Given the description of an element on the screen output the (x, y) to click on. 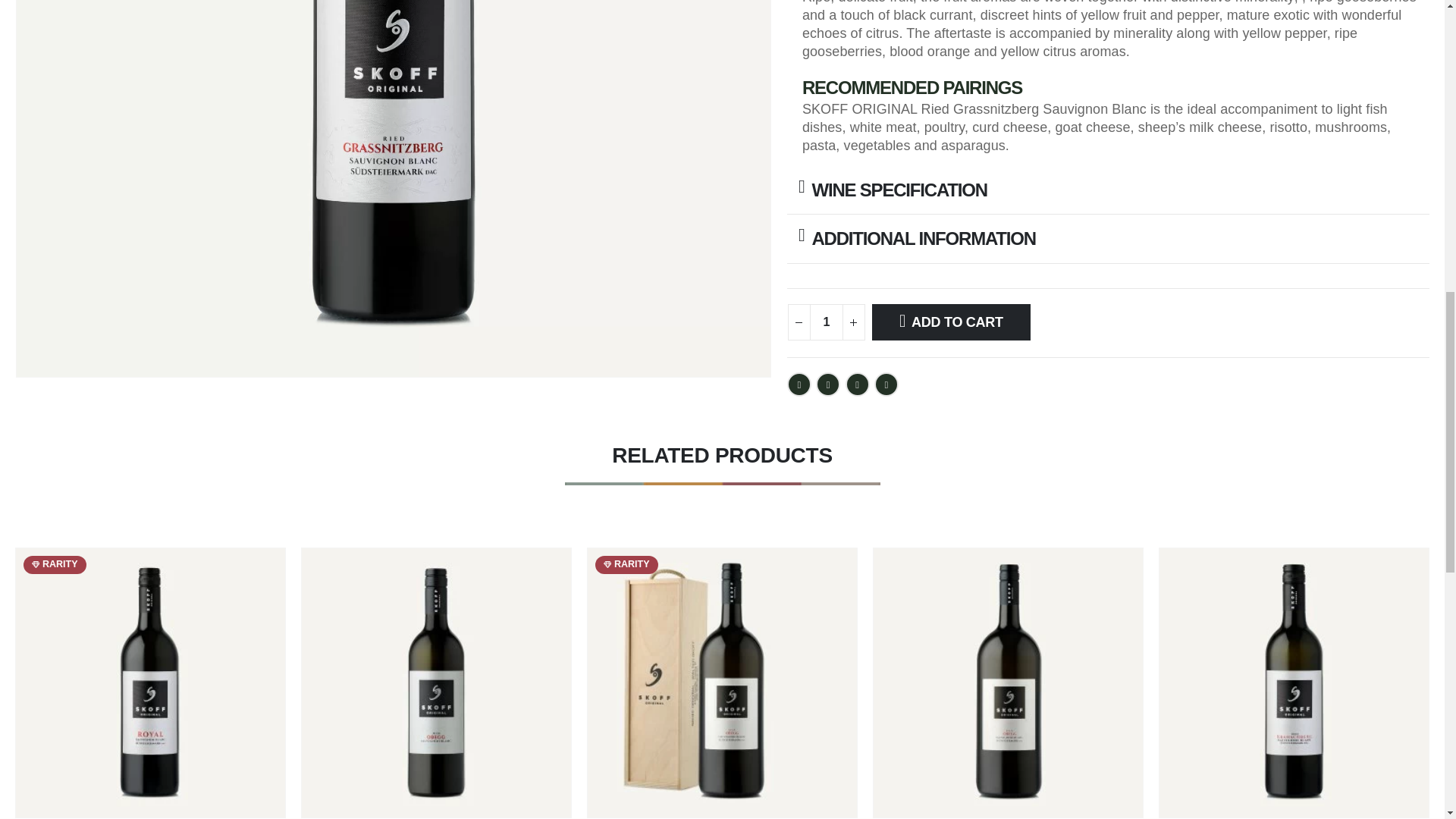
1 (826, 321)
Qty (826, 321)
